Given the description of an element on the screen output the (x, y) to click on. 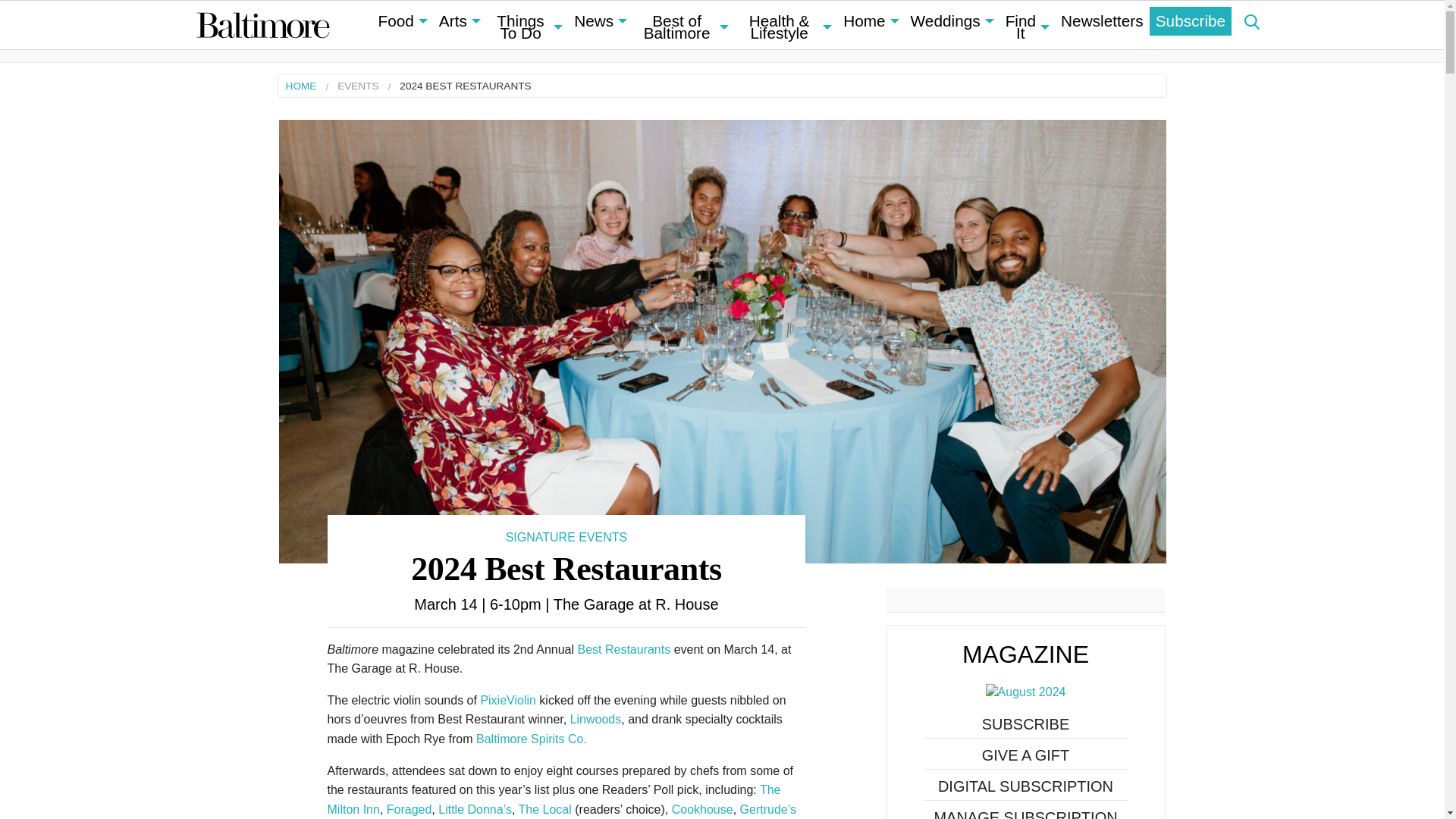
Baltimore Magazine (262, 24)
Food (401, 21)
2024 Best Restaurants (722, 340)
Arts (459, 21)
Best of Baltimore (682, 26)
Home (870, 21)
News (599, 21)
Things To Do (526, 26)
Weddings (951, 21)
